Given the description of an element on the screen output the (x, y) to click on. 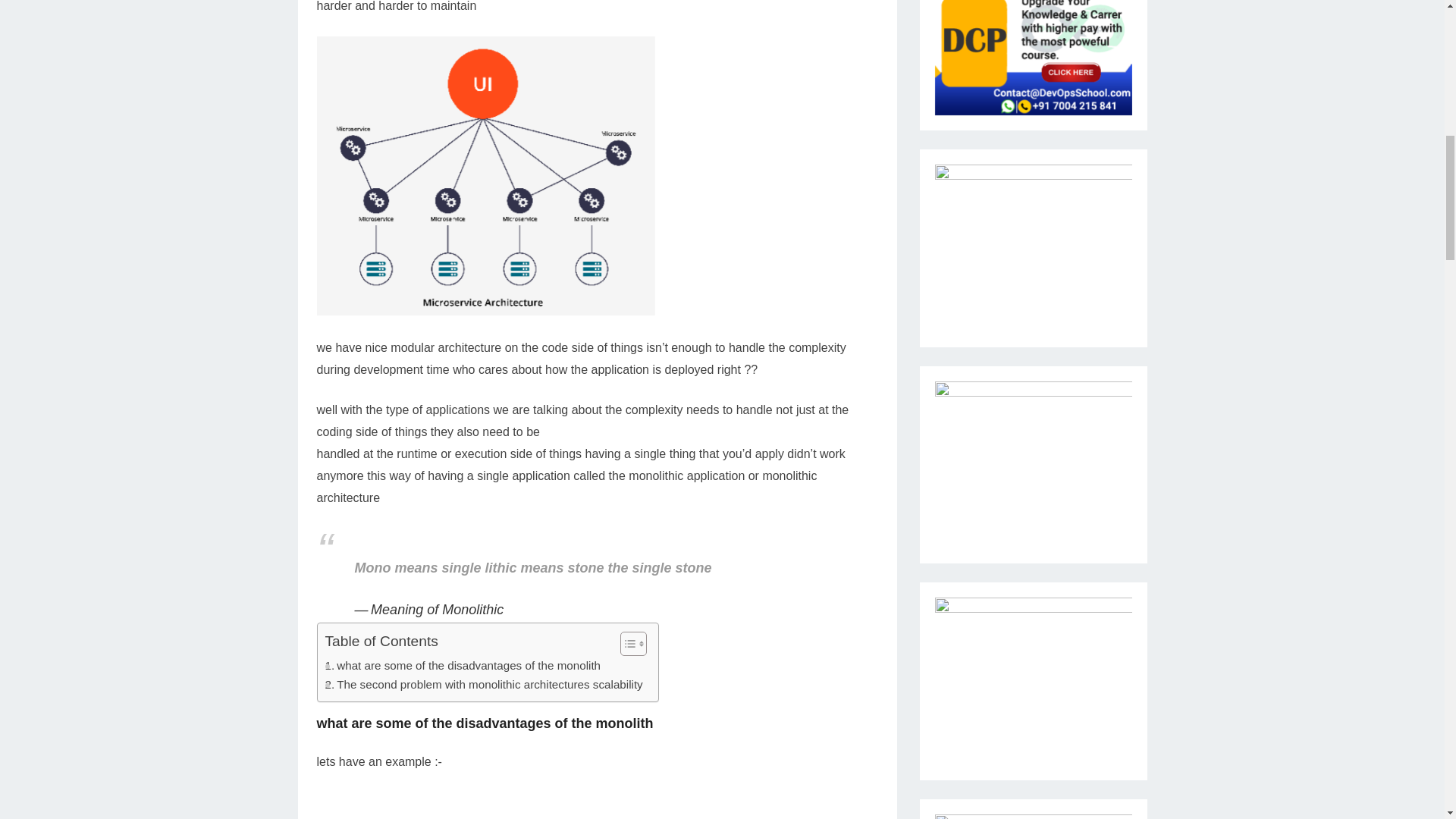
what are some of the disadvantages of the monolith (461, 665)
The second problem with monolithic architectures scalability (483, 684)
The second problem with monolithic architectures scalability (483, 684)
what are some of the disadvantages of the monolith (461, 665)
